Given the description of an element on the screen output the (x, y) to click on. 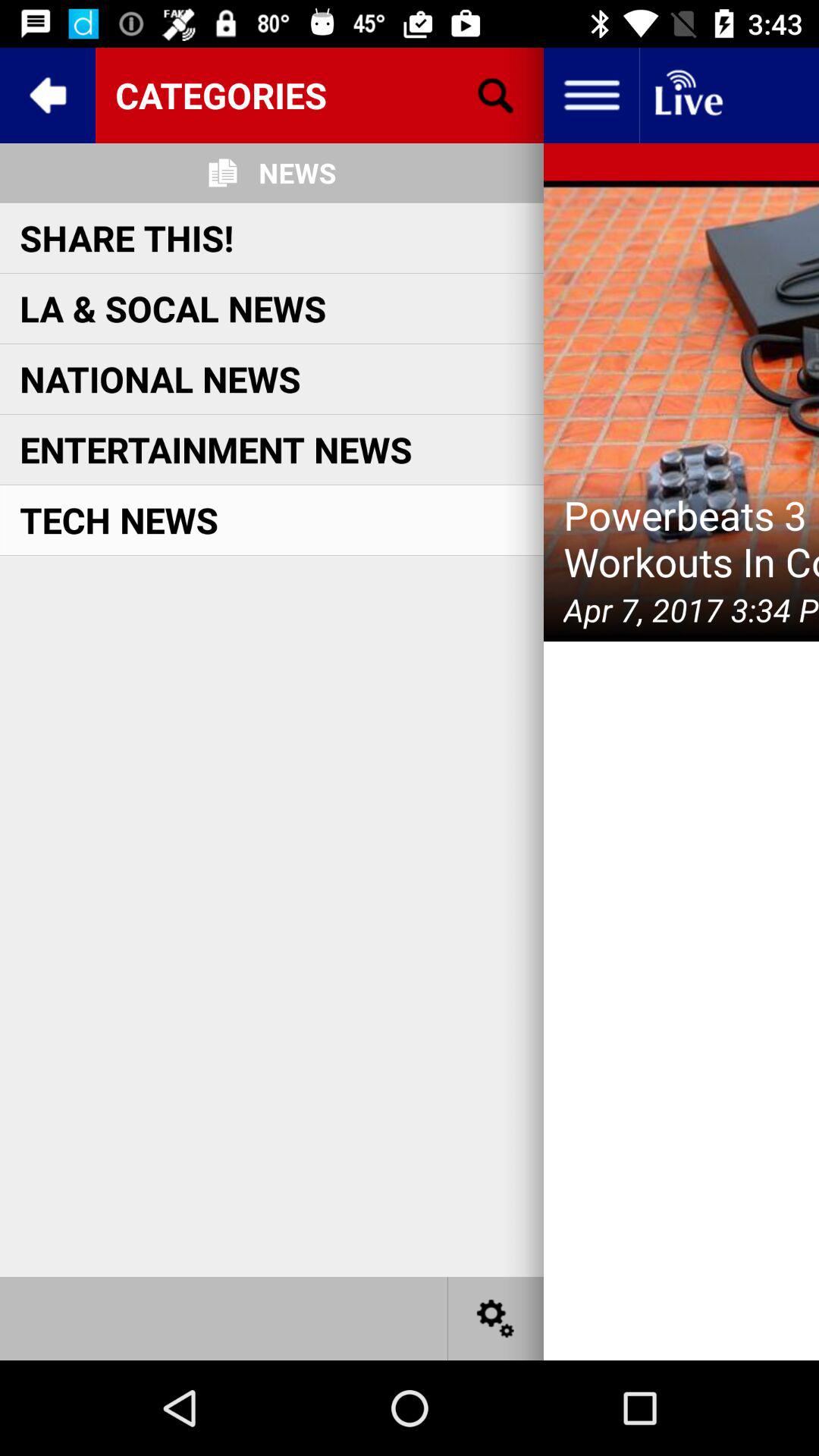
press tech news (118, 519)
